Given the description of an element on the screen output the (x, y) to click on. 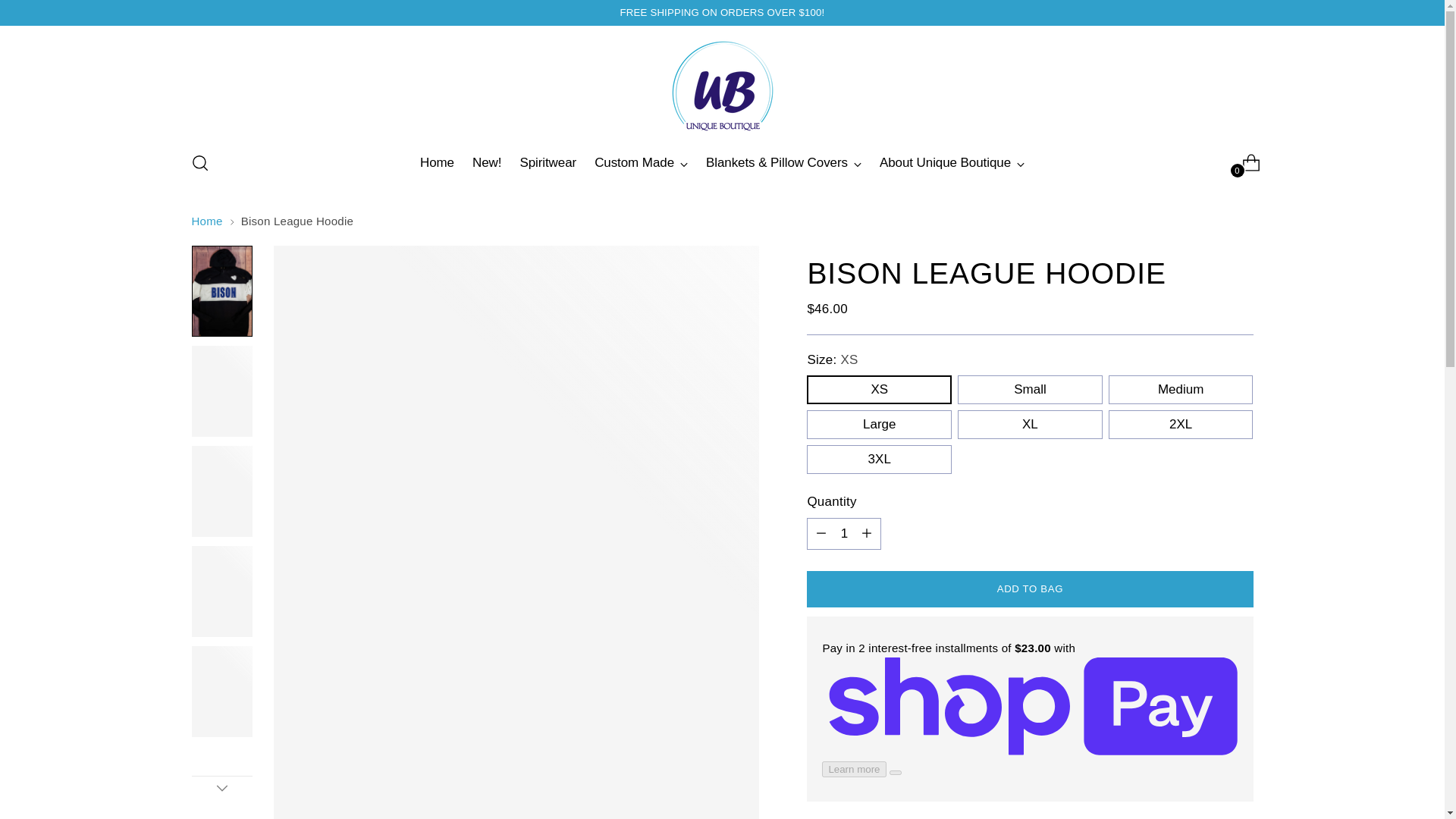
Spiritwear (547, 162)
Custom Made (640, 162)
Down (220, 787)
1 (843, 533)
Home (437, 162)
